Given the description of an element on the screen output the (x, y) to click on. 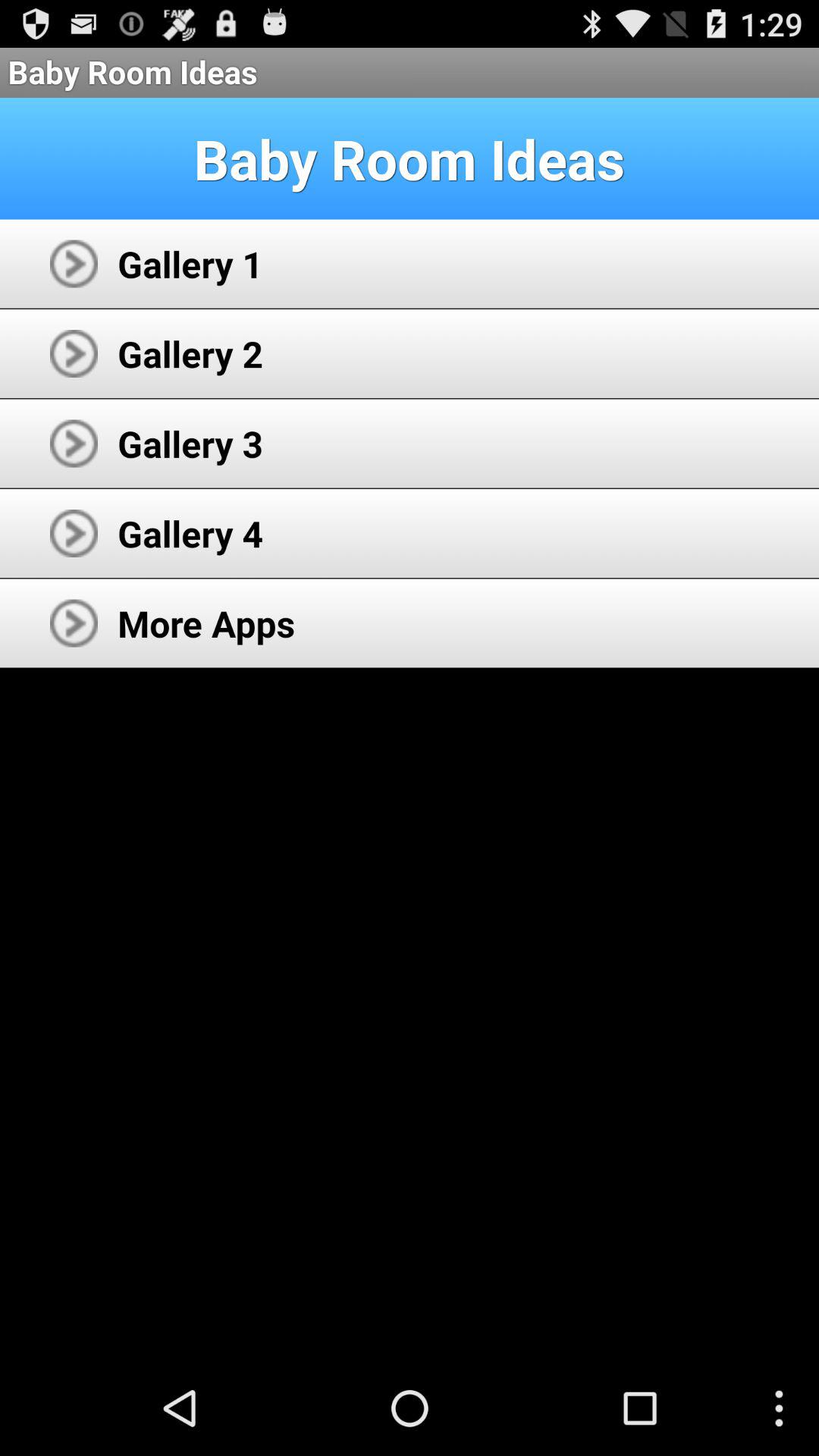
open the more apps (206, 622)
